Given the description of an element on the screen output the (x, y) to click on. 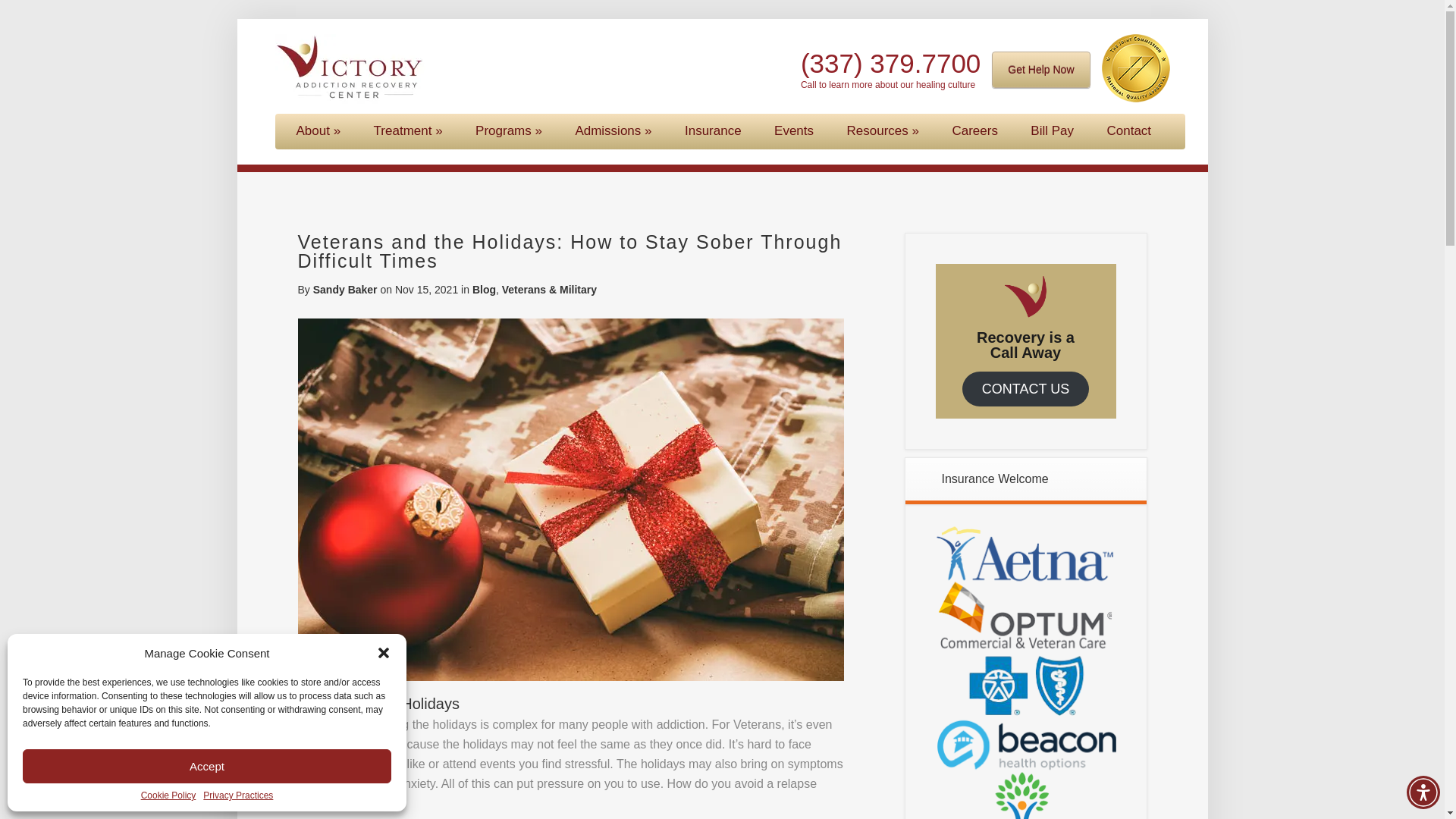
Posts by Sandy Baker (345, 289)
Accept (207, 765)
Privacy Practices (238, 795)
Accessibility Menu (1422, 792)
Cookie Policy (168, 795)
